Given the description of an element on the screen output the (x, y) to click on. 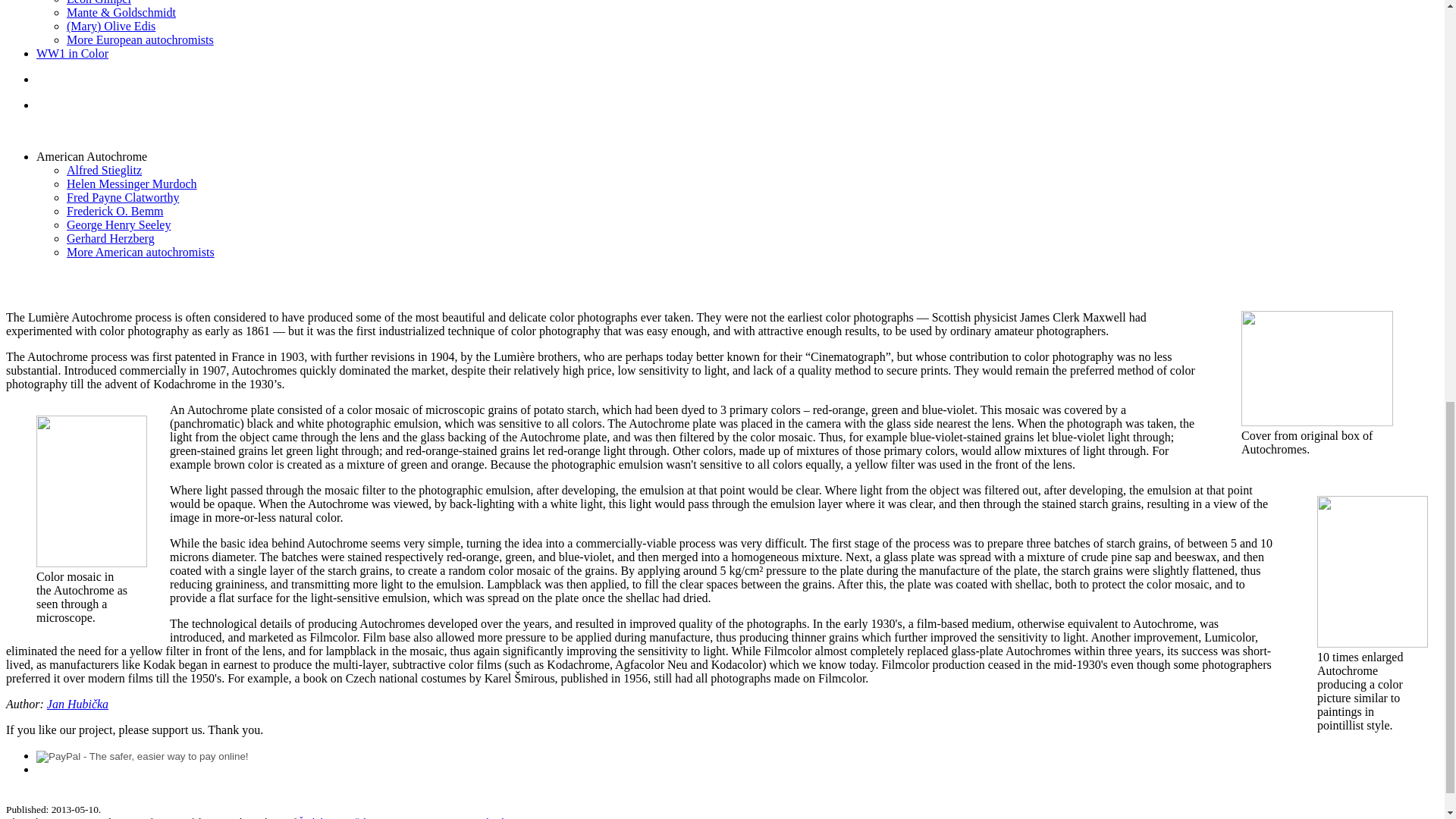
George Henry Seeley (118, 224)
Frederick O. Bemm (114, 210)
Gerhard Herzberg (110, 237)
More European autochromists (140, 39)
More American autochromists (140, 251)
Fred Payne Clatworthy (122, 196)
Helen Messinger Murdoch (131, 183)
Alfred Stieglitz (103, 169)
WW1 in Color (71, 52)
